Given the description of an element on the screen output the (x, y) to click on. 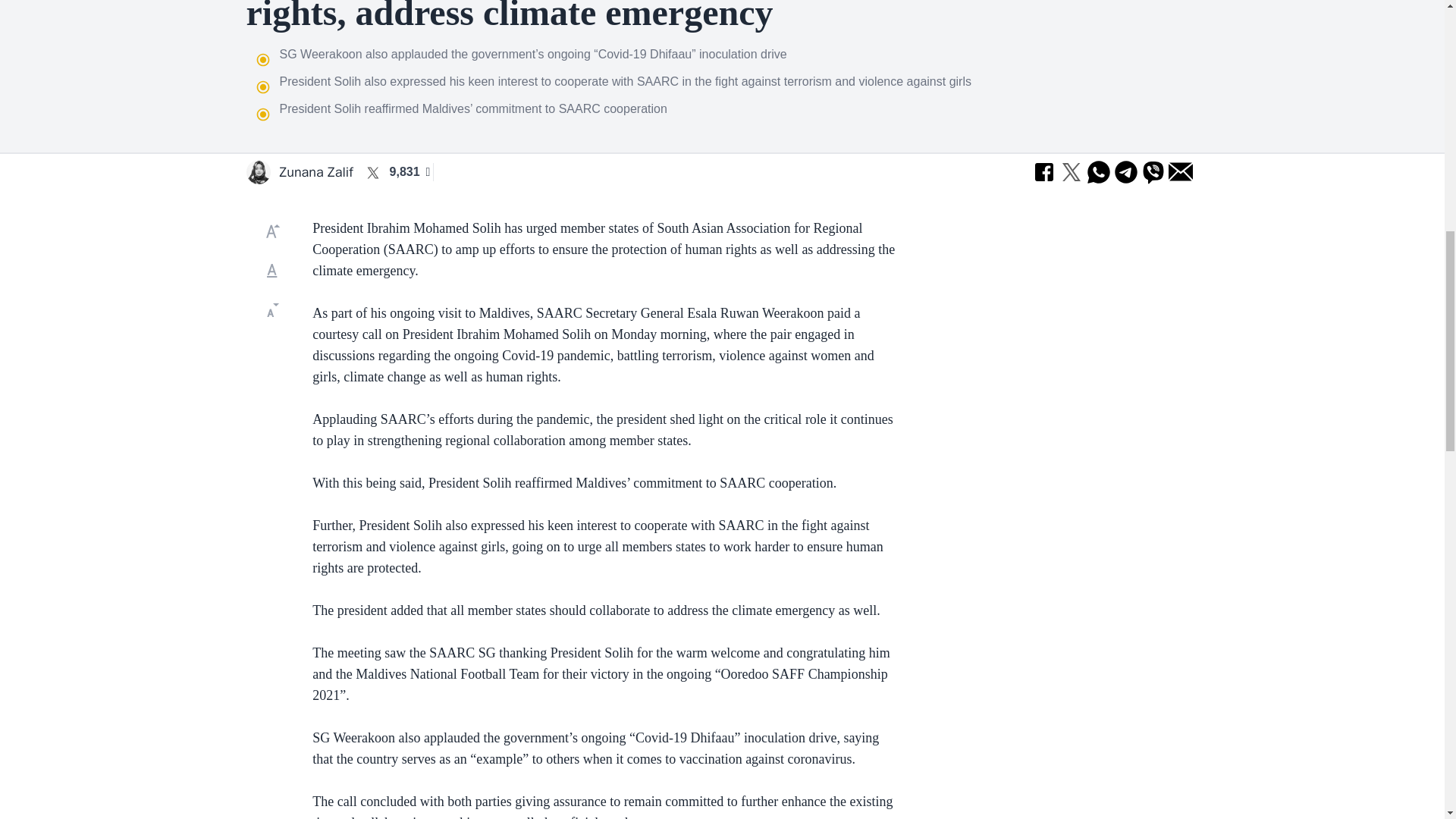
Zunana Zalif (315, 171)
